Given the description of an element on the screen output the (x, y) to click on. 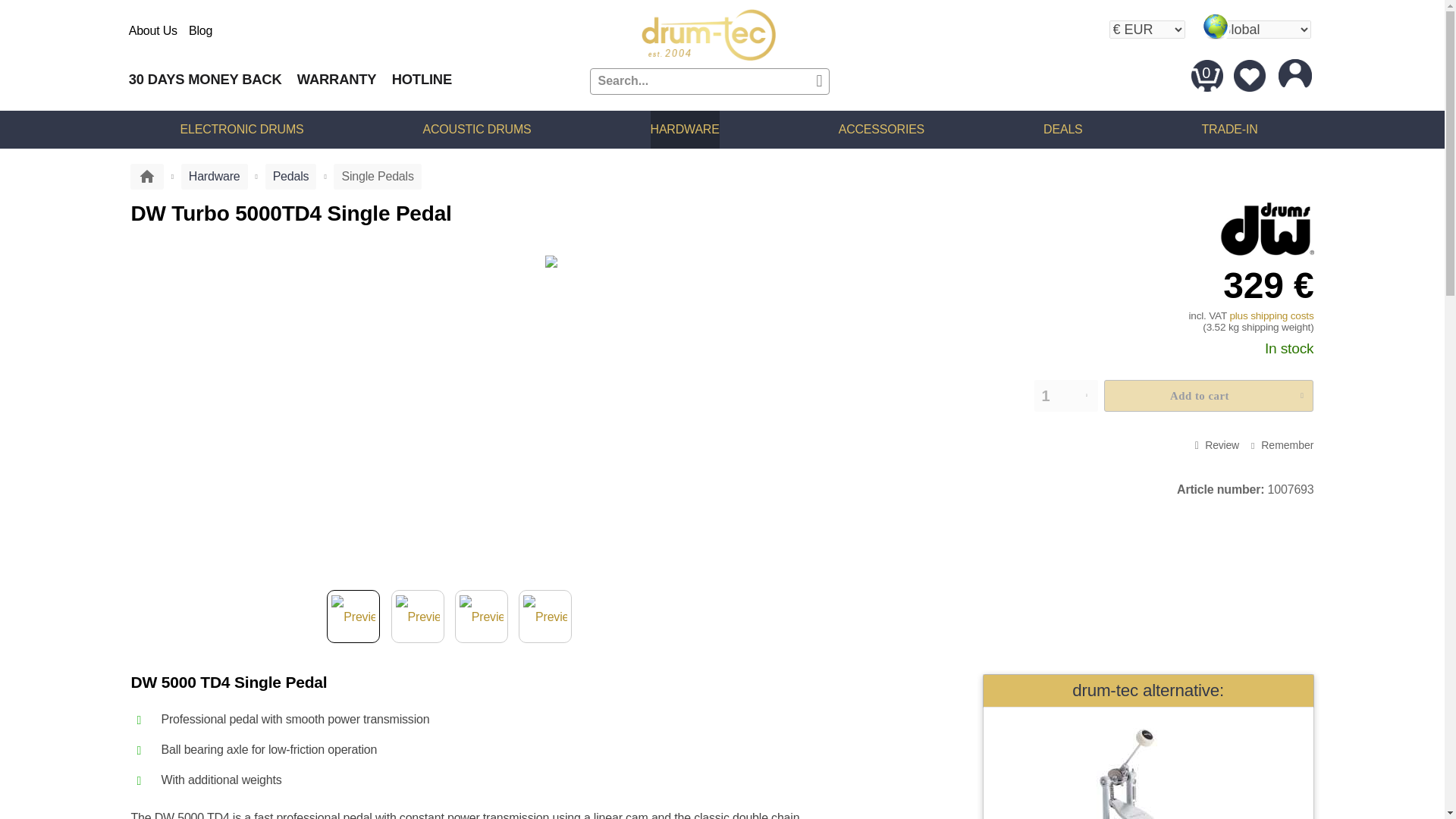
Single Pedals (376, 176)
About Us (153, 30)
ACOUSTIC DRUMS (477, 129)
Pedals (290, 176)
drum-tec blog (200, 30)
E-Drum Deals (1062, 129)
WARRANTY (337, 78)
Hardware (213, 176)
HOTLINE (421, 78)
HARDWARE (684, 129)
